Given the description of an element on the screen output the (x, y) to click on. 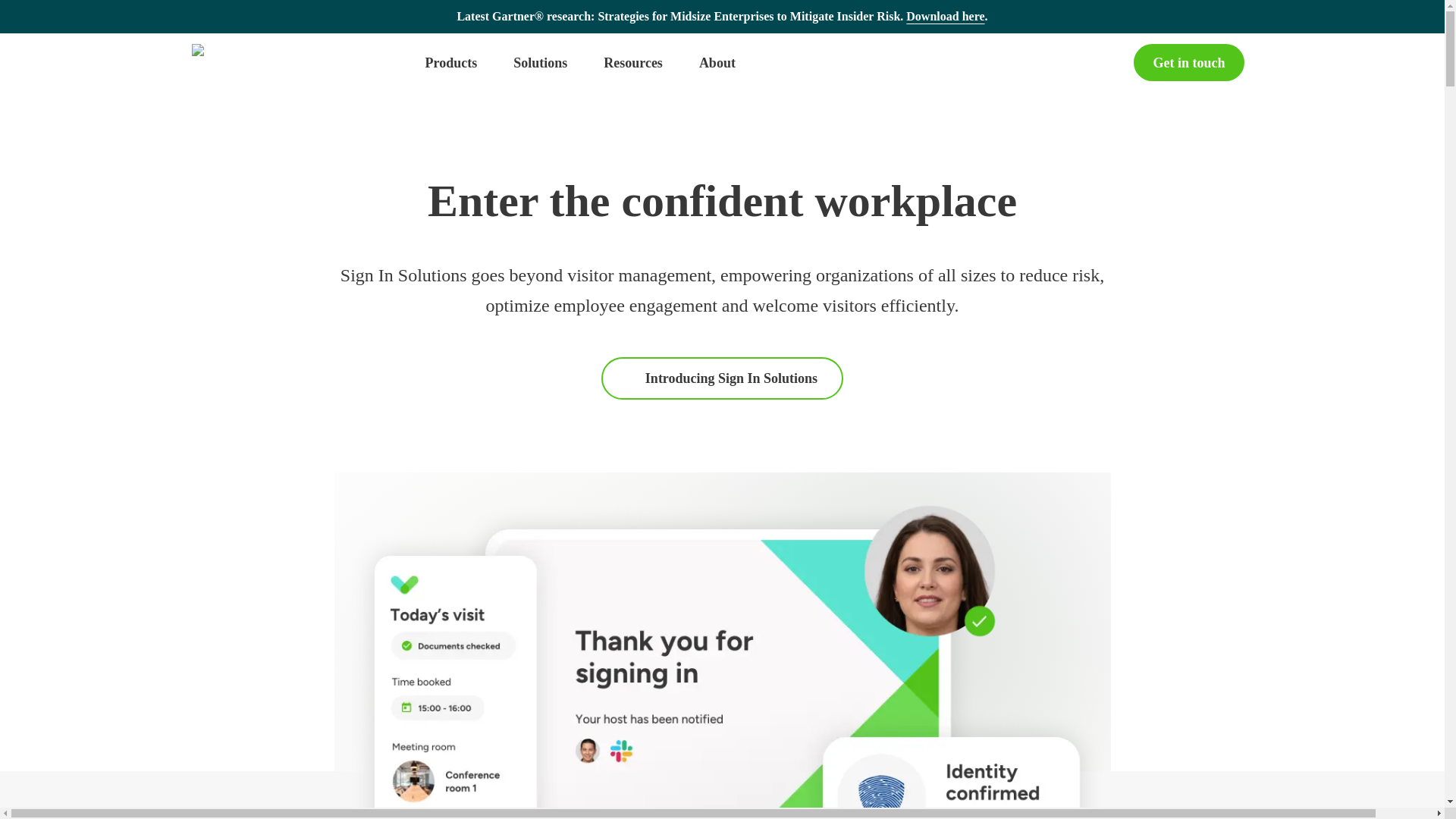
Got to home page (290, 63)
About (717, 62)
About (717, 62)
Solutions (540, 62)
Products (450, 62)
Get in touch (1188, 62)
Download here (944, 15)
Resources (633, 62)
